Given the description of an element on the screen output the (x, y) to click on. 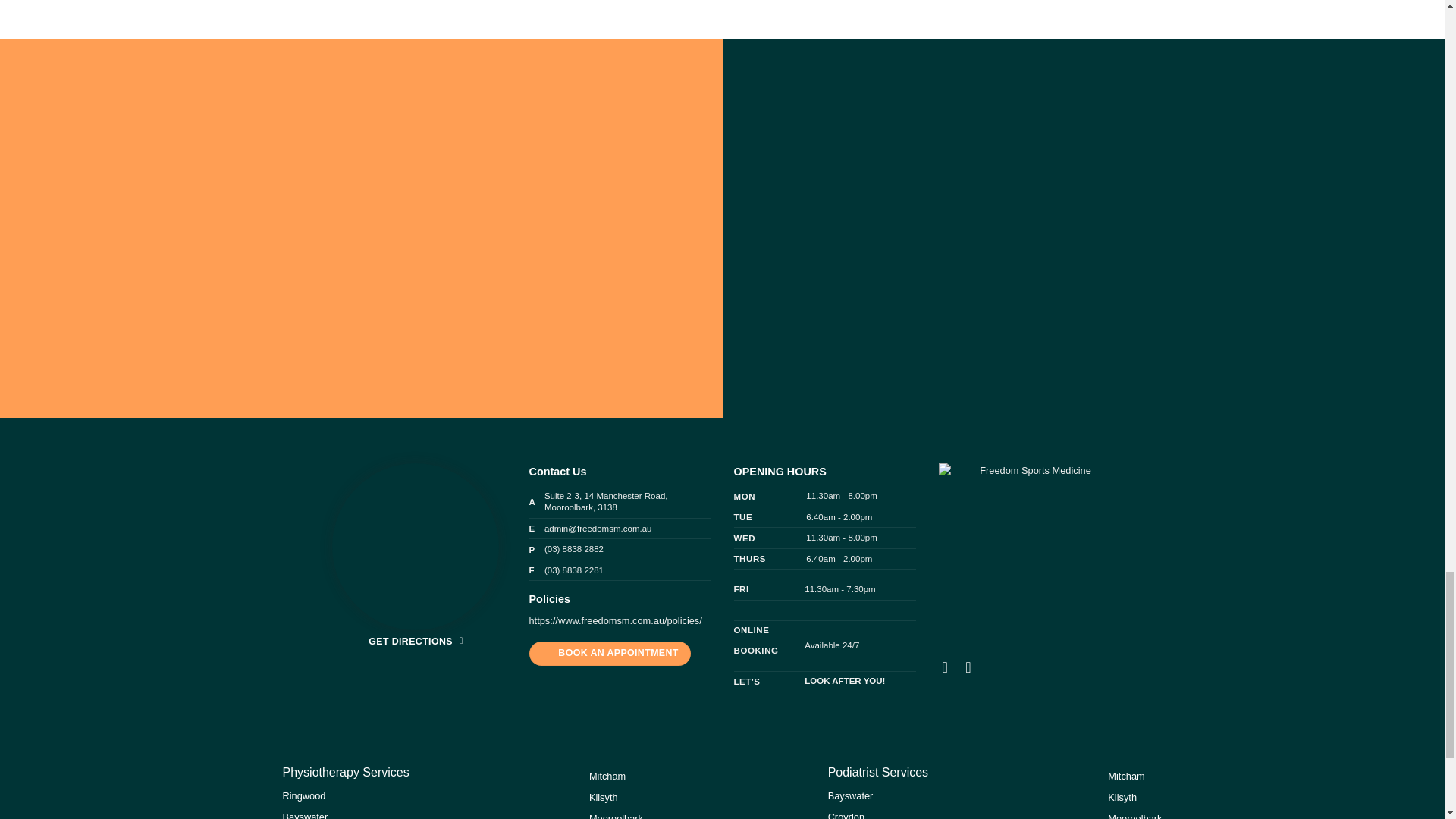
Mitcham (607, 776)
Mooroolbark (616, 816)
Bayswater (304, 815)
Kilsyth (603, 797)
Follow on Instagram (972, 667)
Ringwood (303, 795)
BOOK AN APPOINTMENT (609, 653)
Follow on Facebook (950, 667)
GET DIRECTIONS (414, 641)
